Given the description of an element on the screen output the (x, y) to click on. 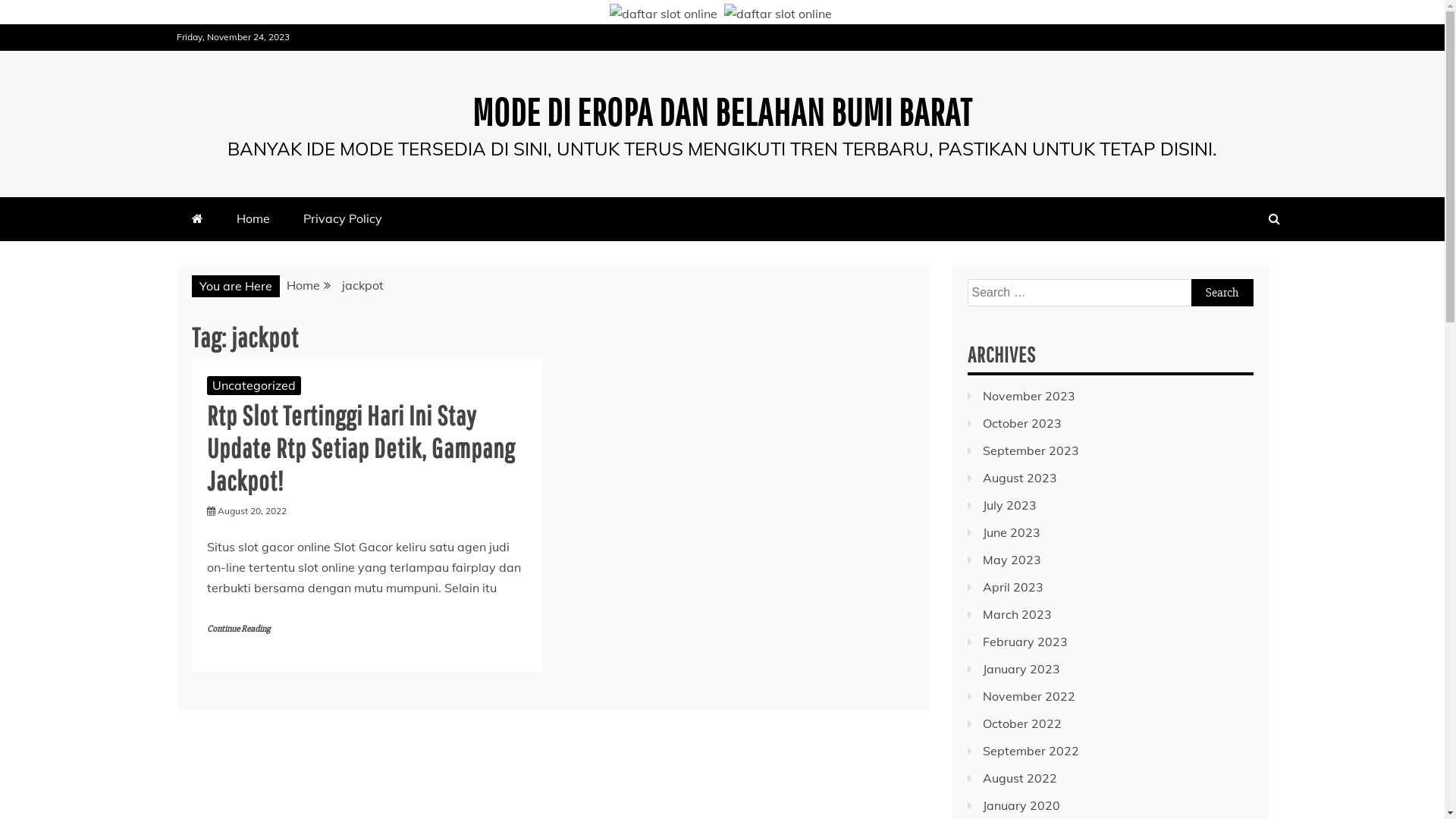
October 2023 Element type: text (1021, 422)
January 2020 Element type: text (1021, 804)
November 2023 Element type: text (1028, 395)
September 2022 Element type: text (1030, 750)
August 20, 2022 Element type: text (250, 510)
Continue Reading Element type: text (237, 628)
September 2023 Element type: text (1030, 450)
Uncategorized Element type: text (253, 385)
January 2023 Element type: text (1021, 668)
August 2023 Element type: text (1019, 477)
August 2022 Element type: text (1019, 777)
MODE DI EROPA DAN BELAHAN BUMI BARAT Element type: text (722, 111)
slot gacor Element type: hover (777, 13)
April 2023 Element type: text (1012, 586)
Search Element type: text (1221, 292)
June 2023 Element type: text (1011, 531)
November 2022 Element type: text (1028, 695)
July 2023 Element type: text (1009, 504)
Home Element type: text (253, 218)
Privacy Policy Element type: text (342, 218)
daftar slot online Element type: hover (663, 13)
March 2023 Element type: text (1016, 613)
February 2023 Element type: text (1024, 641)
October 2022 Element type: text (1021, 723)
May 2023 Element type: text (1011, 559)
Home Element type: text (303, 284)
